Given the description of an element on the screen output the (x, y) to click on. 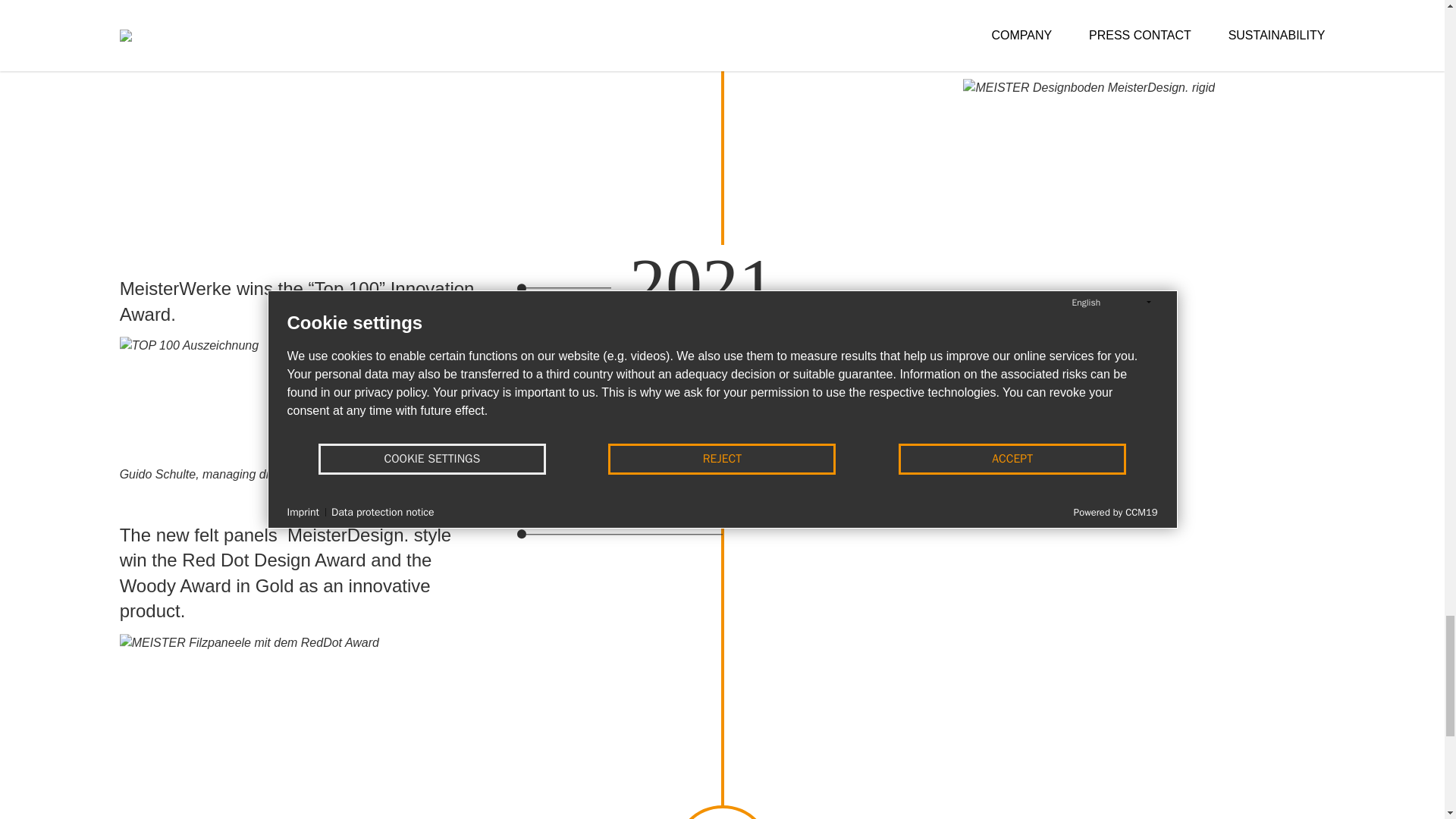
Der erste Rigid-Core-Boden aus dem Hause MEISTER (1088, 162)
